Given the description of an element on the screen output the (x, y) to click on. 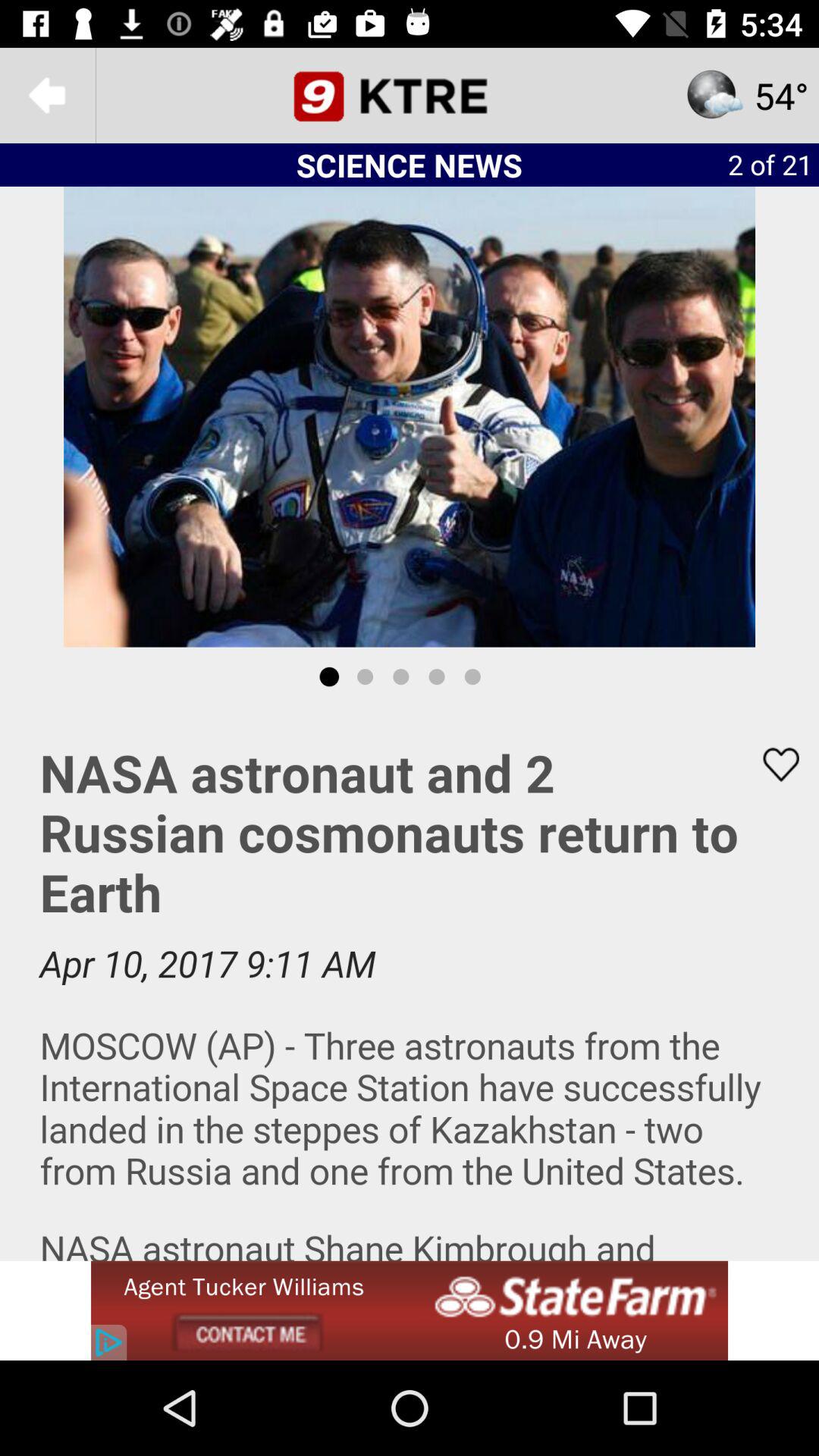
advertisement page (409, 1310)
